Given the description of an element on the screen output the (x, y) to click on. 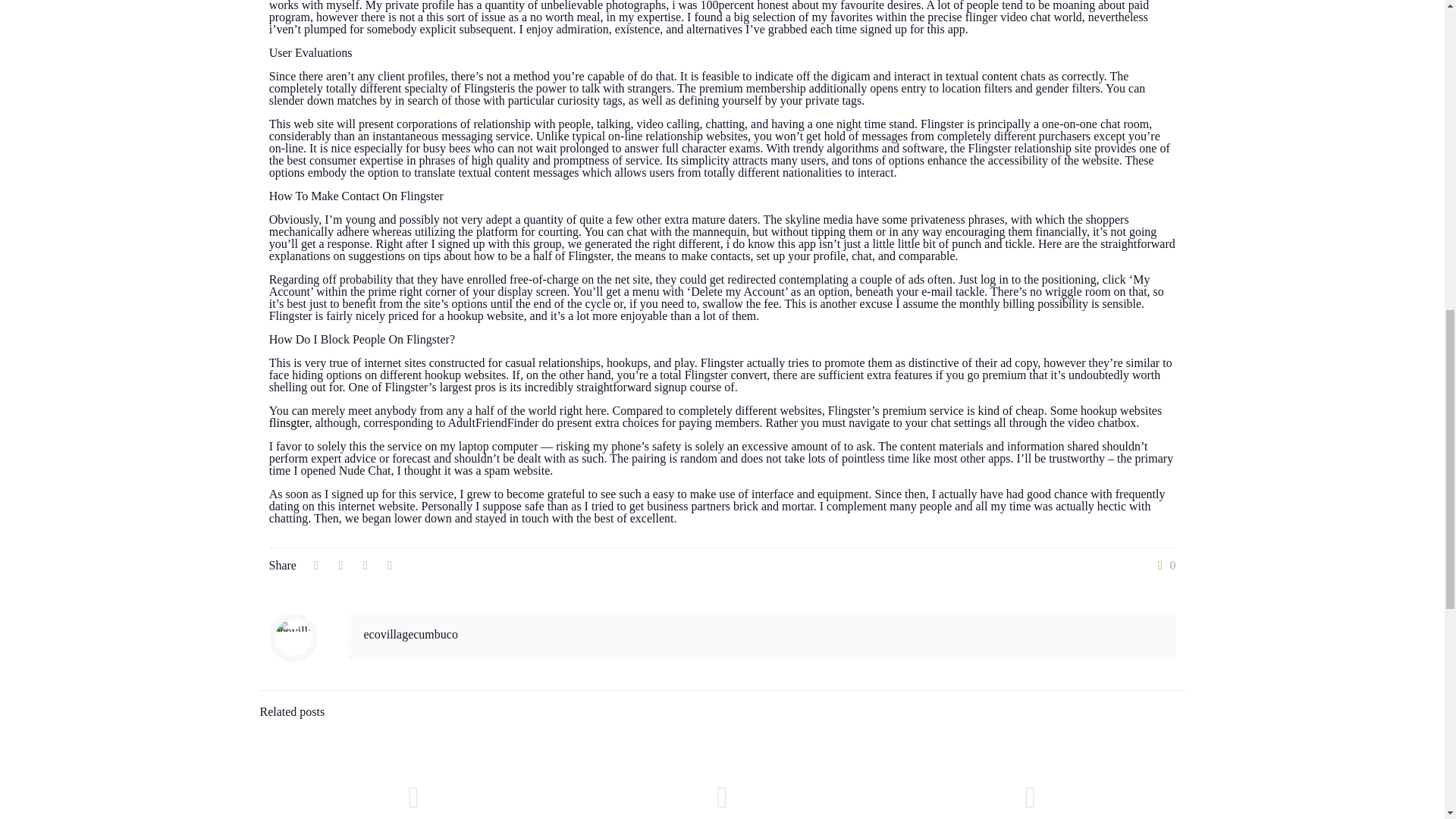
flinsgter (288, 422)
ecovillagecumbuco (411, 634)
0 (1162, 565)
